Given the description of an element on the screen output the (x, y) to click on. 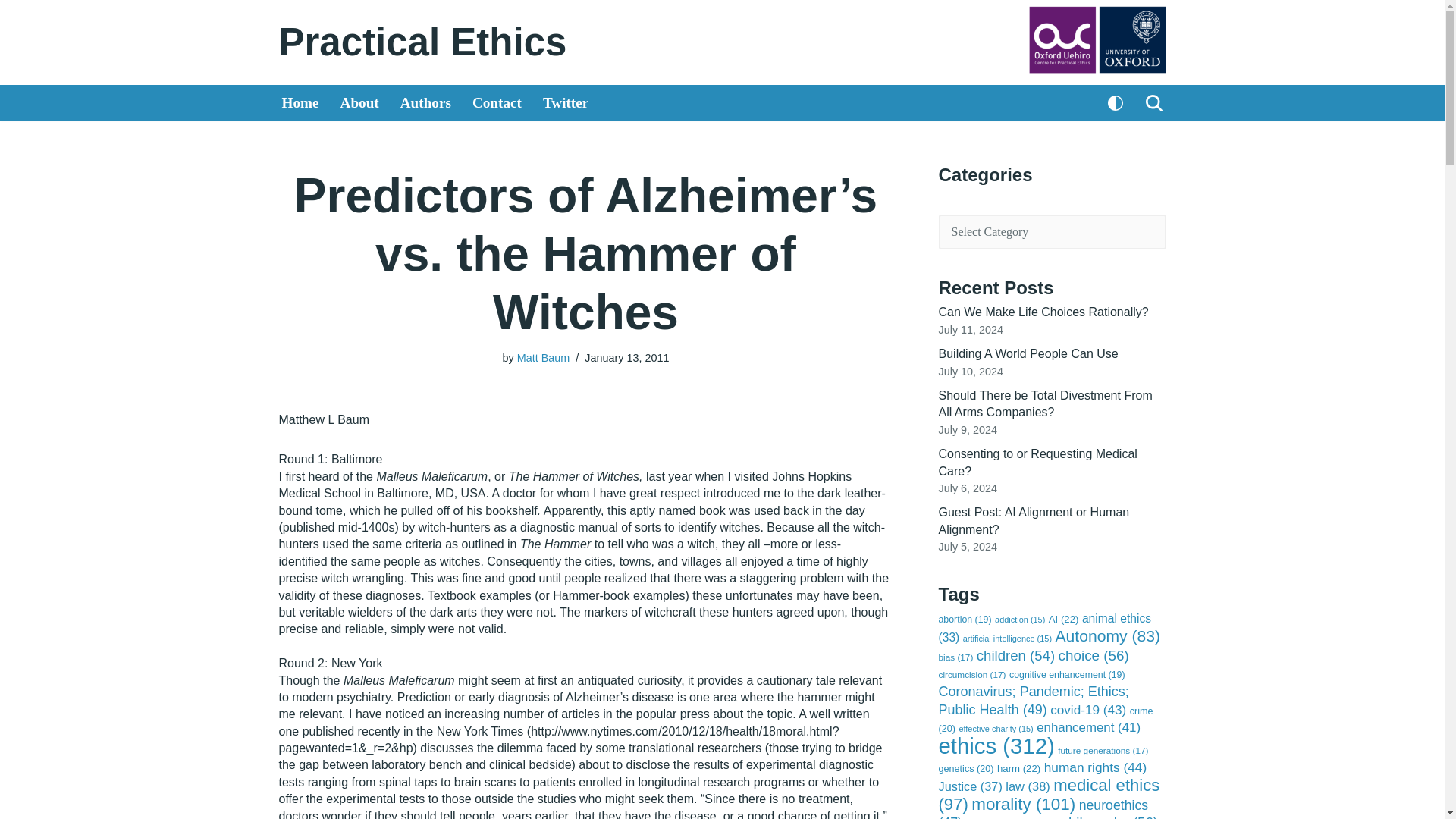
Can We Make Life Choices Rationally? (1043, 311)
About (359, 102)
Skip to content (11, 31)
Twitter (565, 102)
Building A World People Can Use (1028, 353)
Matt Baum (543, 357)
Practical Ethics (423, 41)
Should There be Total Divestment From All Arms Companies? (1046, 403)
Authors (425, 102)
Home (300, 102)
Posts by Matt Baum (543, 357)
Contact (496, 102)
